Given the description of an element on the screen output the (x, y) to click on. 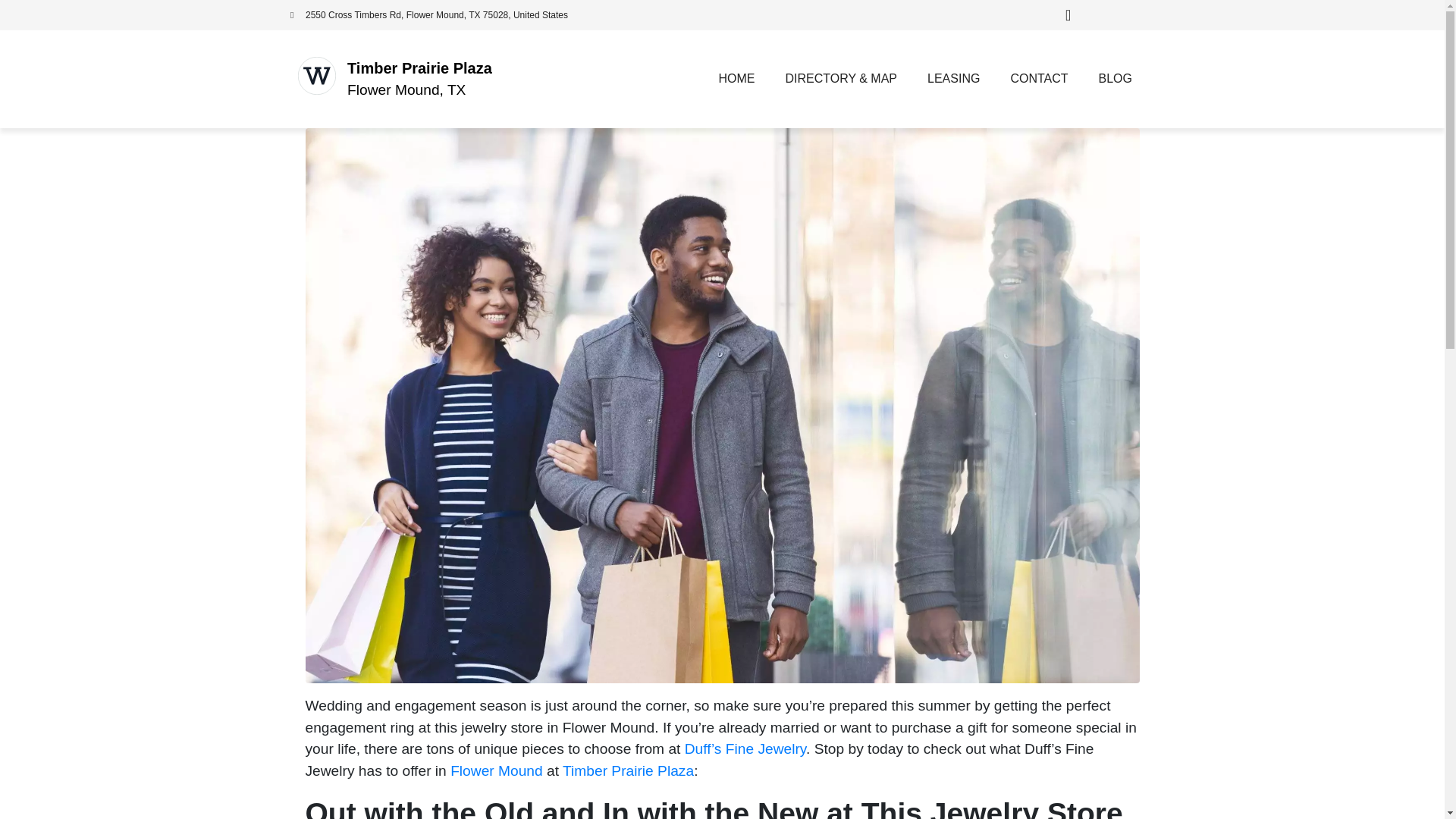
Timber Prairie Plaza (419, 67)
CONTACT (1038, 78)
Flower Mound (496, 770)
LEASING (953, 78)
BLOG (1115, 78)
HOME (736, 78)
Timber Prairie Plaza (628, 770)
